Given the description of an element on the screen output the (x, y) to click on. 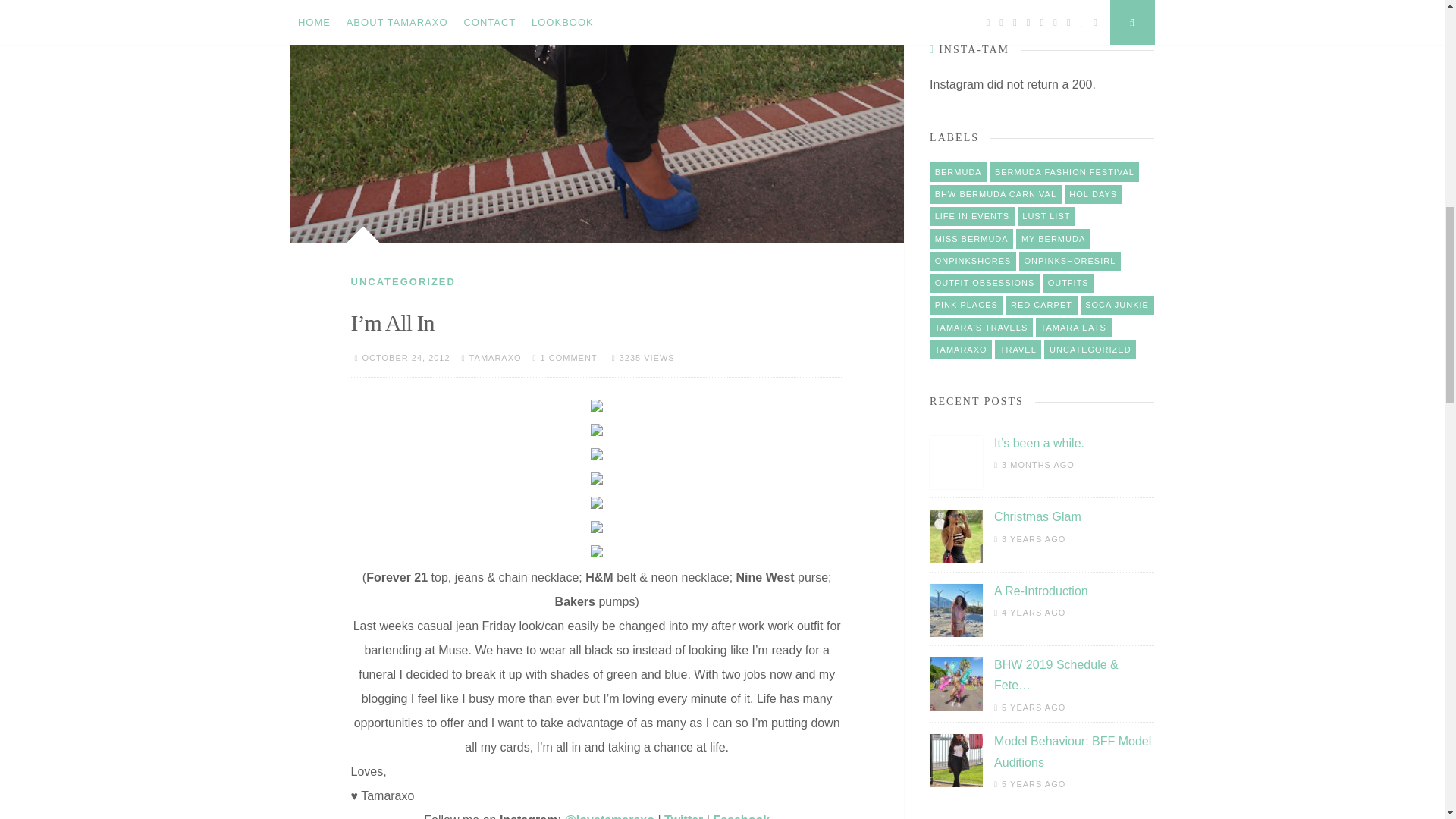
OCTOBER 24, 2012 (405, 357)
TAMARAXO (494, 357)
1 COMMENT (568, 357)
Facebook (741, 816)
Twitter (683, 816)
UNCATEGORIZED (402, 281)
